Given the description of an element on the screen output the (x, y) to click on. 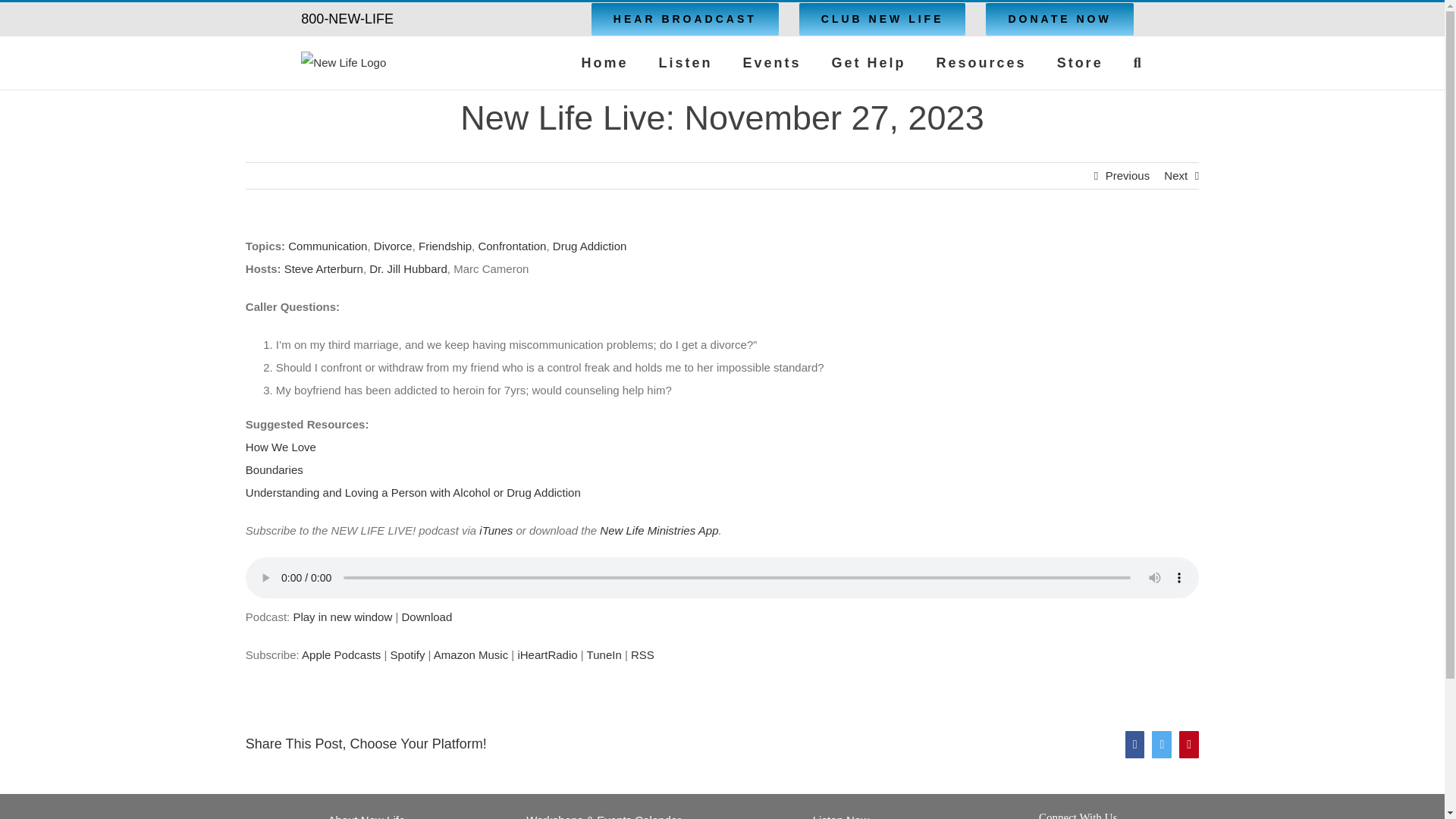
Play in new window (341, 616)
Boundaries (274, 469)
Events (772, 62)
Subscribe on Spotify (407, 654)
New Life Ministries App (658, 530)
DONATE NOW (1058, 19)
Listen (684, 62)
How We Love (280, 446)
Communication (327, 245)
Subscribe on Apple Podcasts (340, 654)
